Given the description of an element on the screen output the (x, y) to click on. 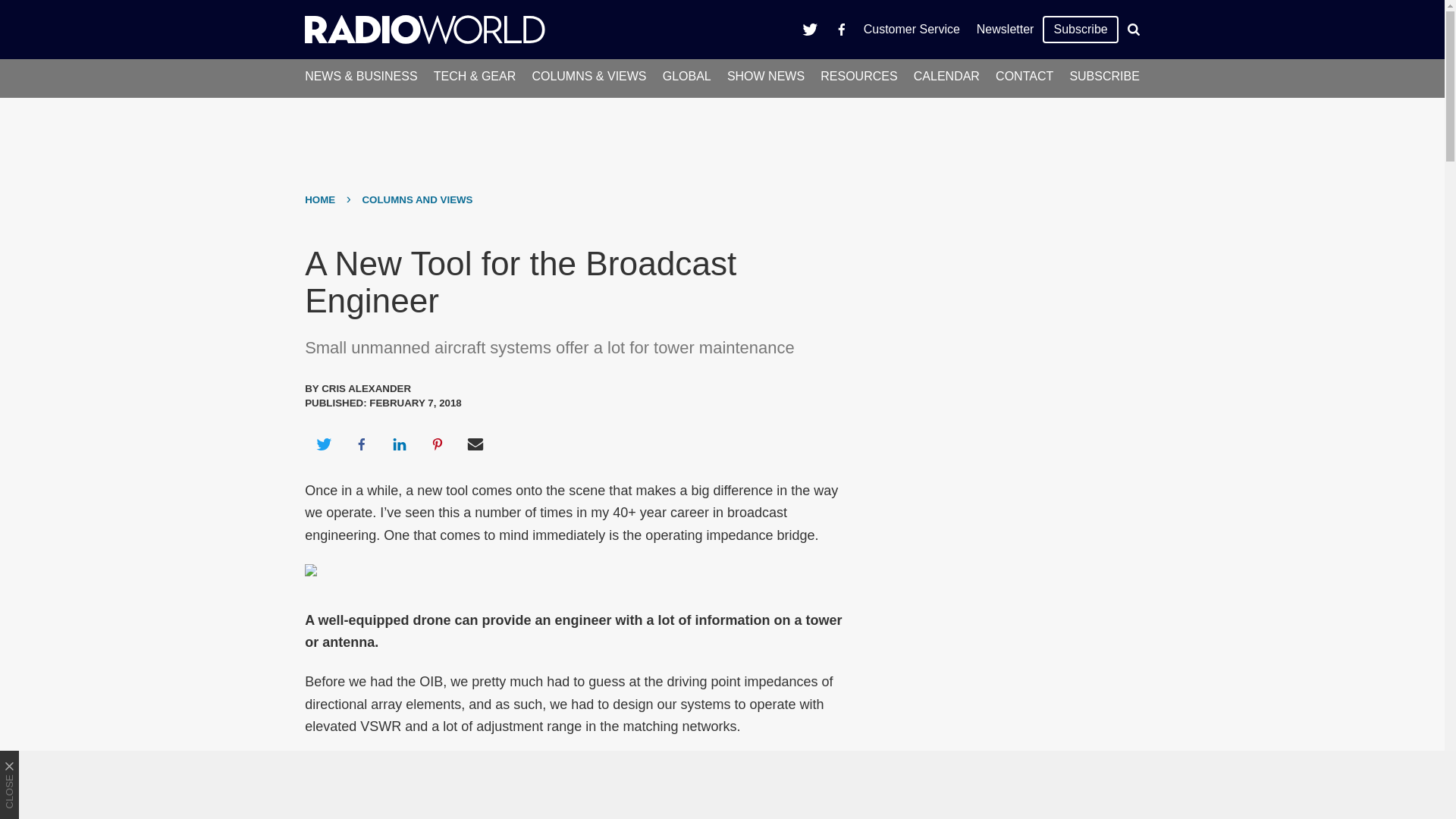
Customer Service (912, 29)
Share on Twitter (323, 444)
Share on LinkedIn (399, 444)
Share on Facebook (361, 444)
Share via Email (476, 444)
Share on Pinterest (438, 444)
